Given the description of an element on the screen output the (x, y) to click on. 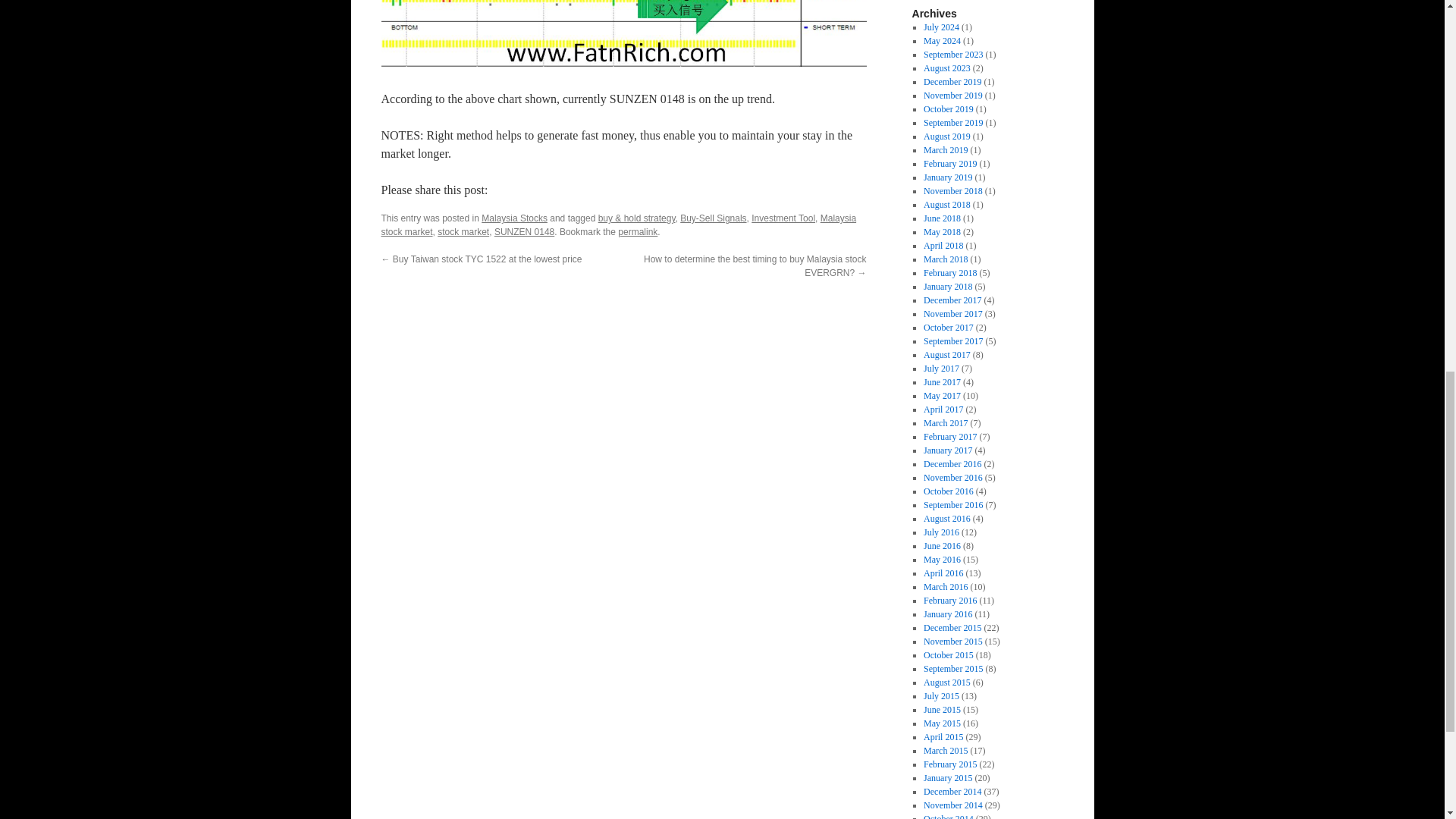
Malaysia stock Sunzen 0148 (623, 33)
stock market (463, 231)
Investment Tool (783, 217)
Malaysia Stocks (514, 217)
SUNZEN 0148 (524, 231)
Buy-Sell Signals (712, 217)
Malaysia stock market (618, 224)
Permalink to Progressive or sell SUNZEN 0148 share? (637, 231)
permalink (637, 231)
